Given the description of an element on the screen output the (x, y) to click on. 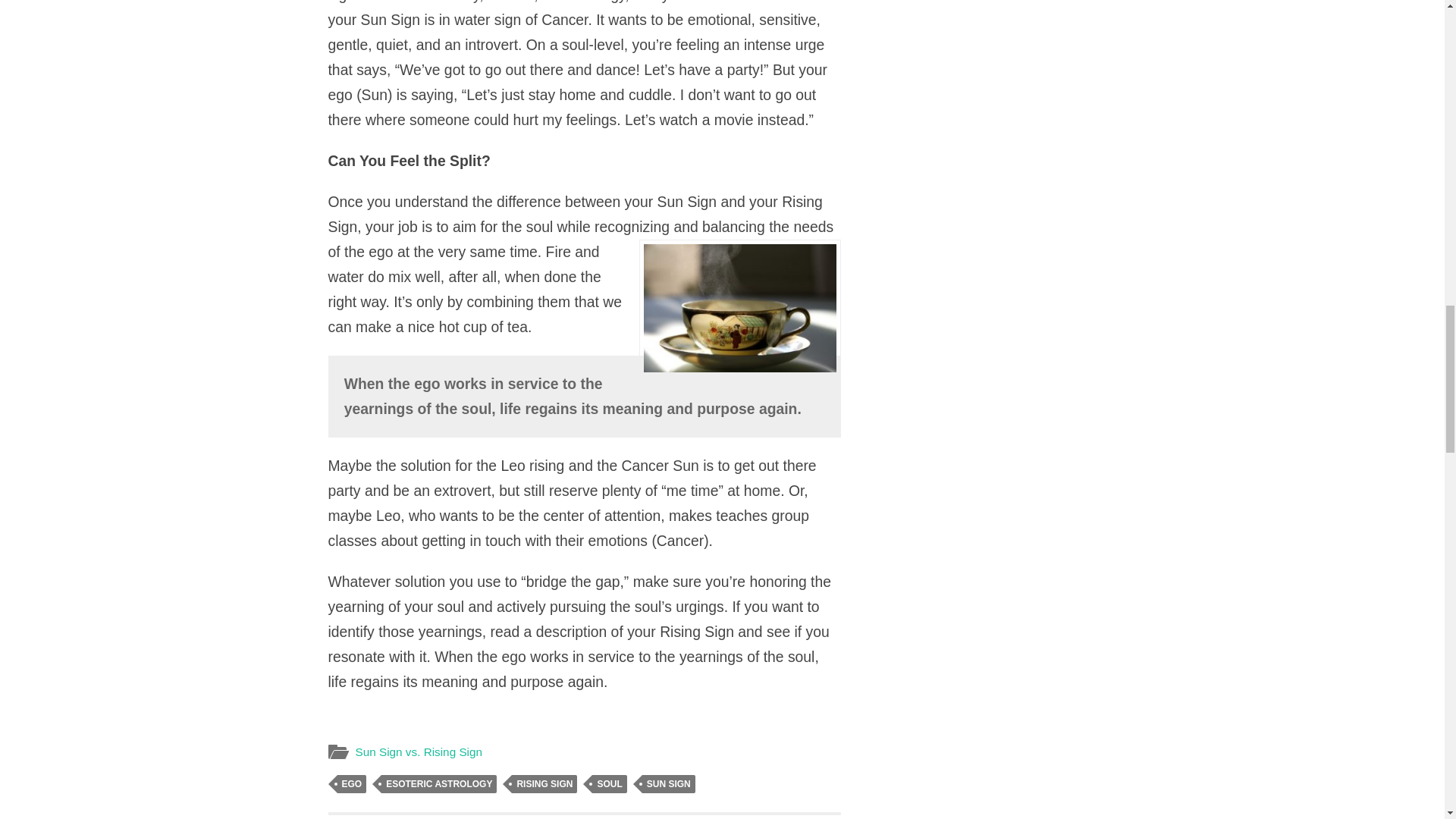
SOUL (745, 816)
ESOTERIC ASTROLOGY (609, 783)
Sun Sign vs. Rising Sign (438, 783)
Next post: Can I Get a Degree in Astrology? (418, 751)
RISING SIGN (745, 816)
SUN SIGN (544, 783)
EGO (668, 783)
